Given the description of an element on the screen output the (x, y) to click on. 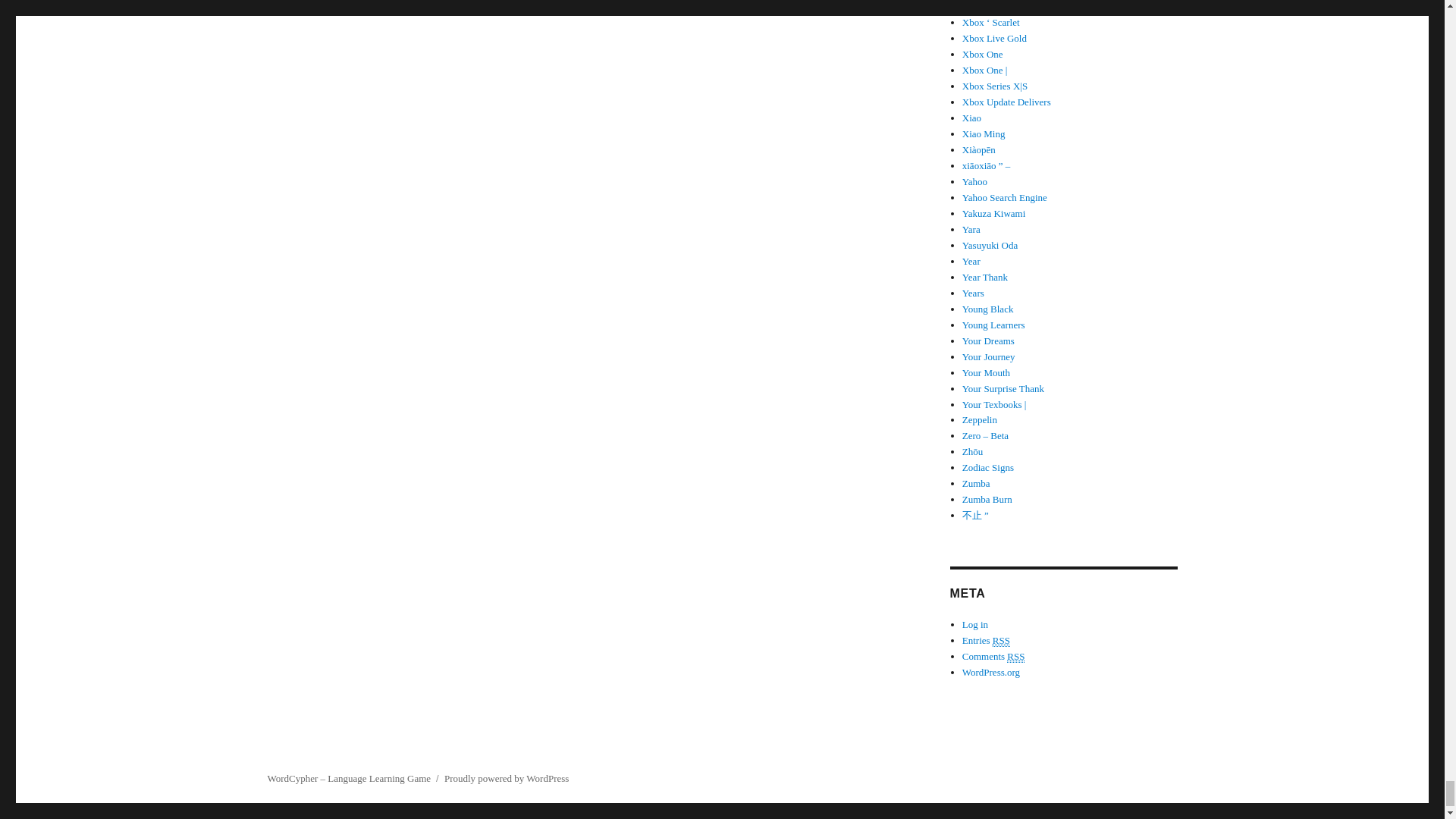
Really Simple Syndication (1001, 640)
Really Simple Syndication (1016, 656)
